Given the description of an element on the screen output the (x, y) to click on. 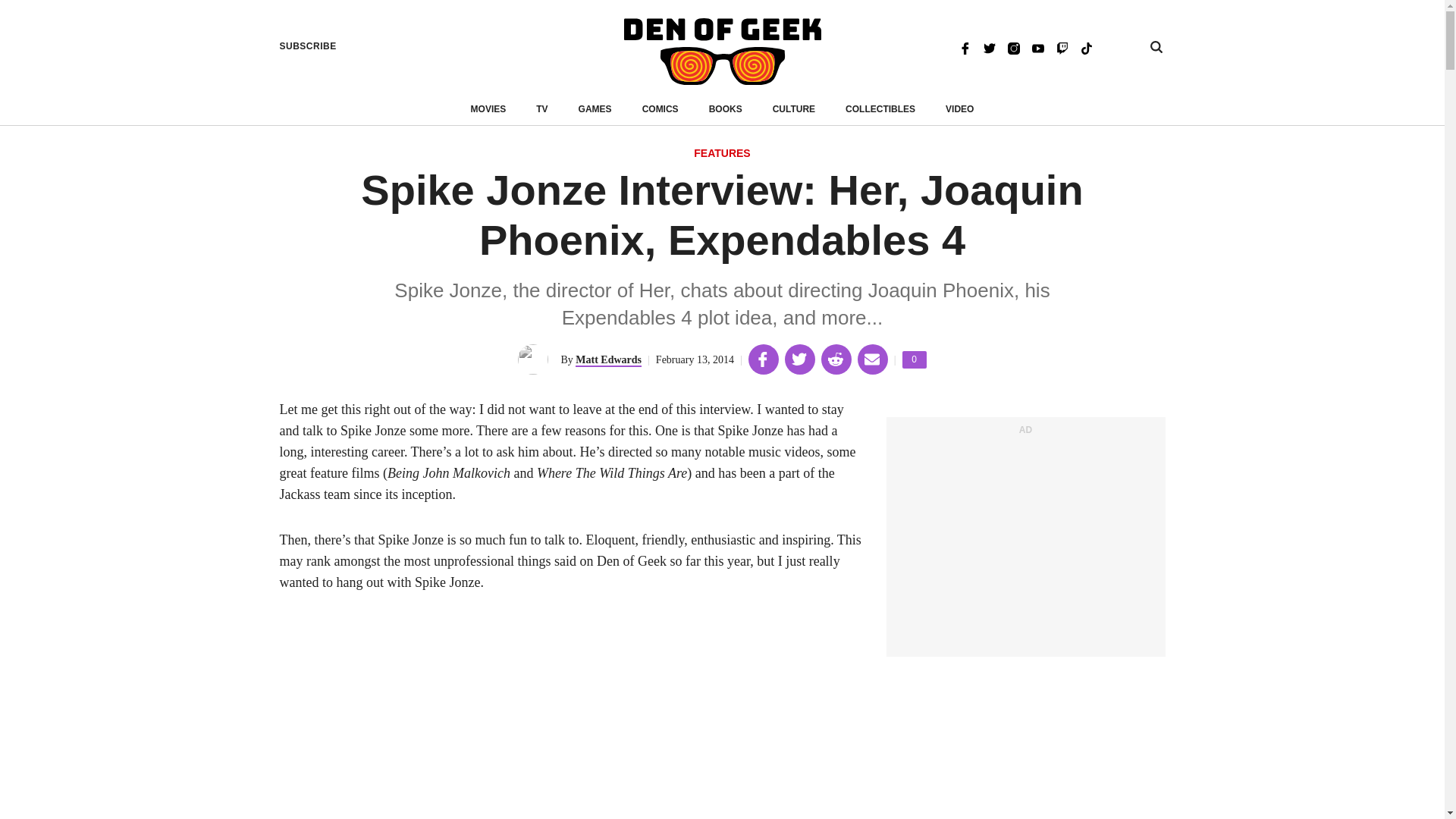
Instagram (1013, 46)
Twitch (1061, 46)
BOOKS (725, 109)
Twitter (988, 46)
VIDEO (959, 109)
Den of Geek (722, 52)
Matt Edwards (608, 359)
SUBSCRIBE (307, 46)
FEATURES (914, 359)
